Given the description of an element on the screen output the (x, y) to click on. 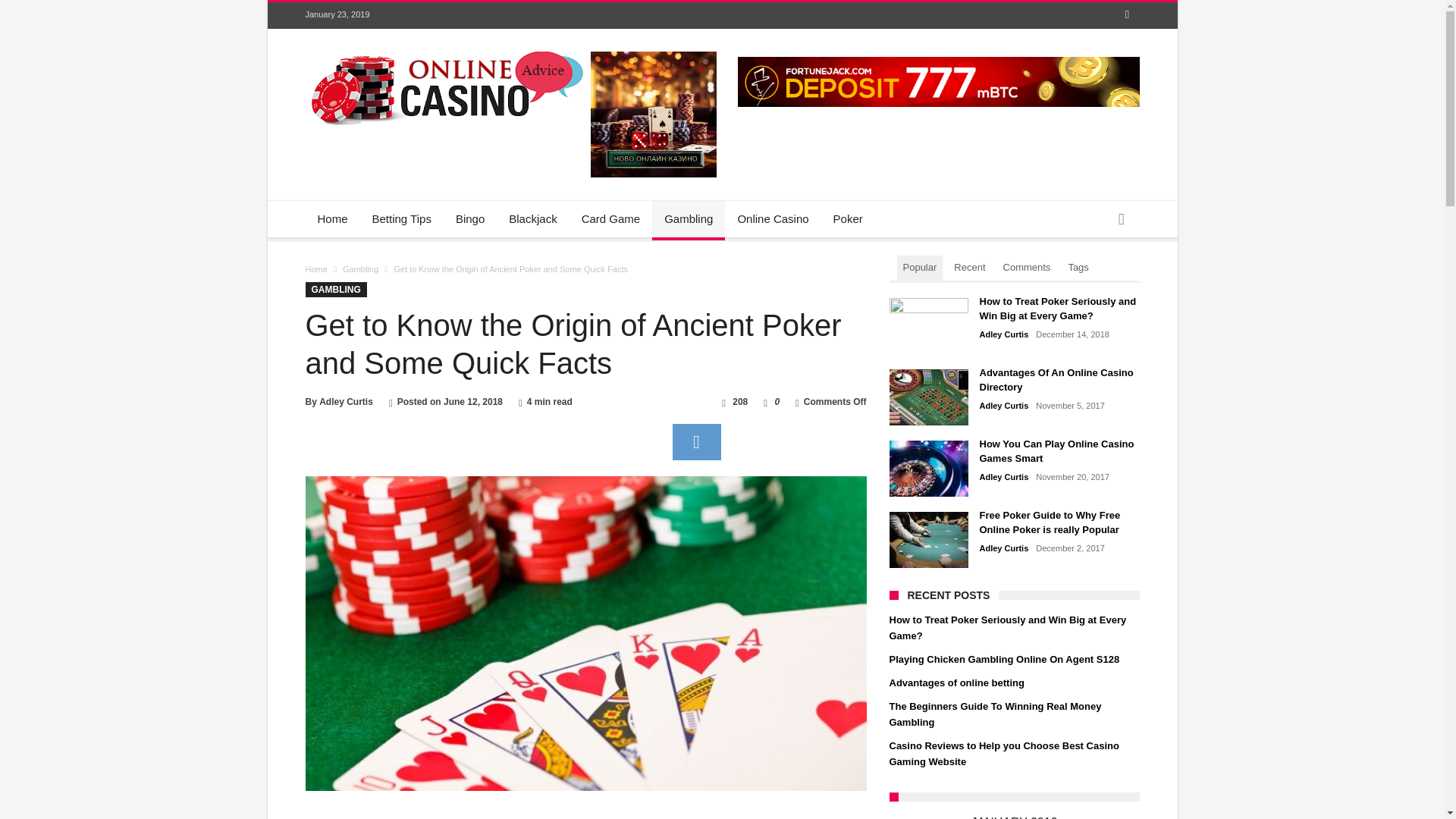
Online Casino Advice (443, 50)
GAMBLING (335, 289)
Posts by Adley Curtis (1004, 548)
Gambling (360, 268)
Home (331, 218)
reddit (695, 442)
I like this article (764, 401)
Poker (848, 218)
Bingo (470, 218)
Card Game (610, 218)
